Given the description of an element on the screen output the (x, y) to click on. 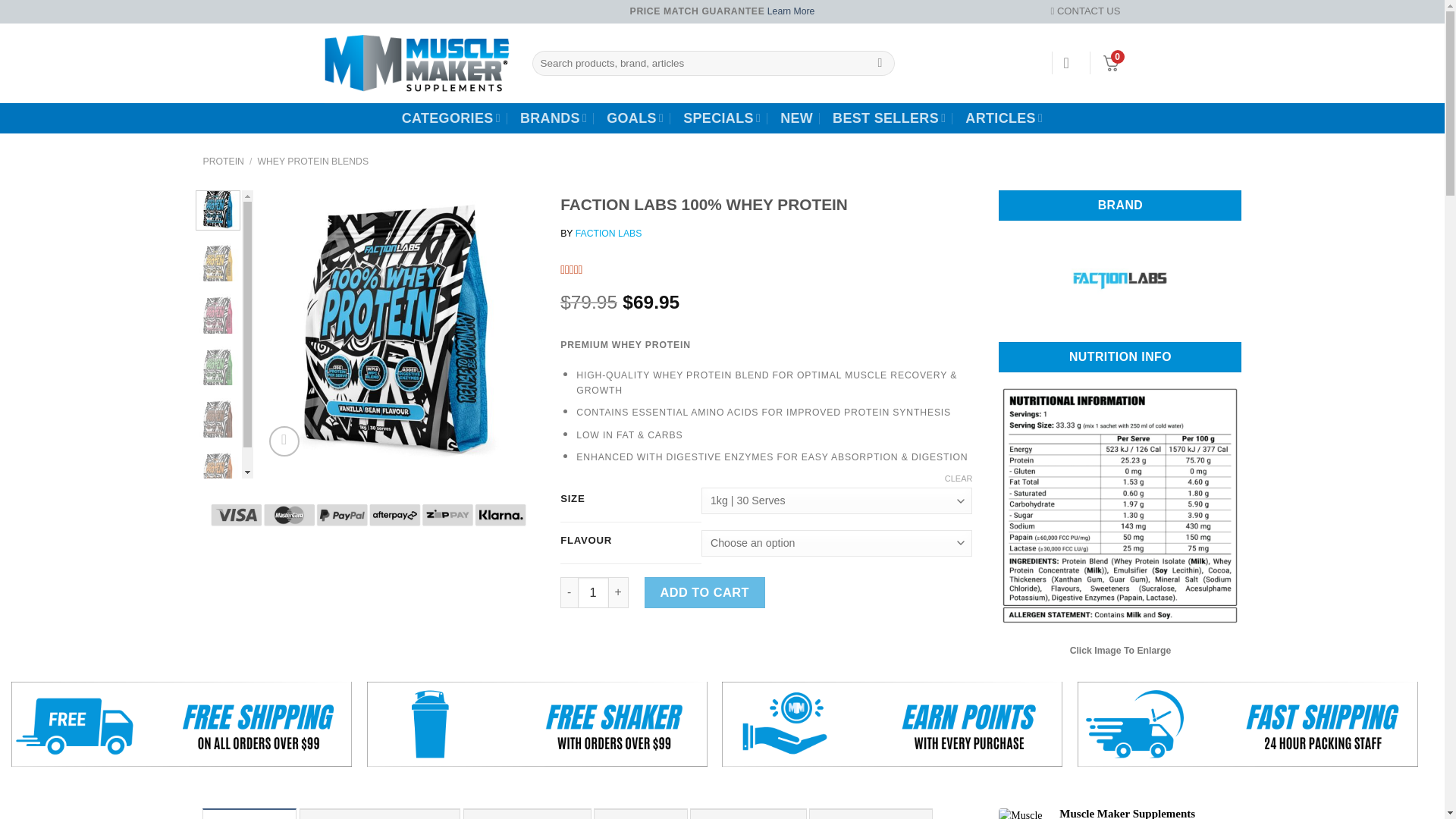
CATEGORIES (450, 118)
Qty (593, 592)
Learn More (791, 10)
1 (593, 592)
Search (880, 62)
